Given the description of an element on the screen output the (x, y) to click on. 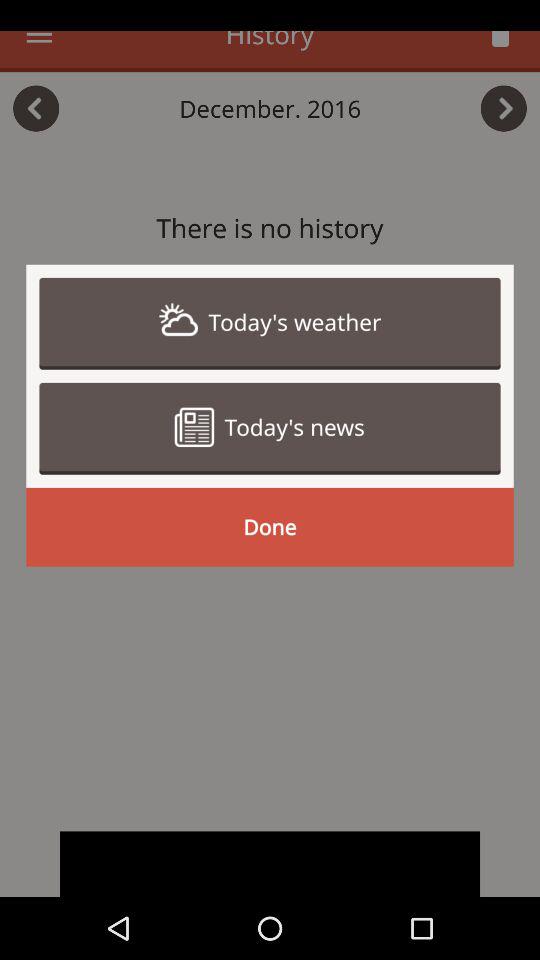
click on the black space bar below (270, 864)
